Given the description of an element on the screen output the (x, y) to click on. 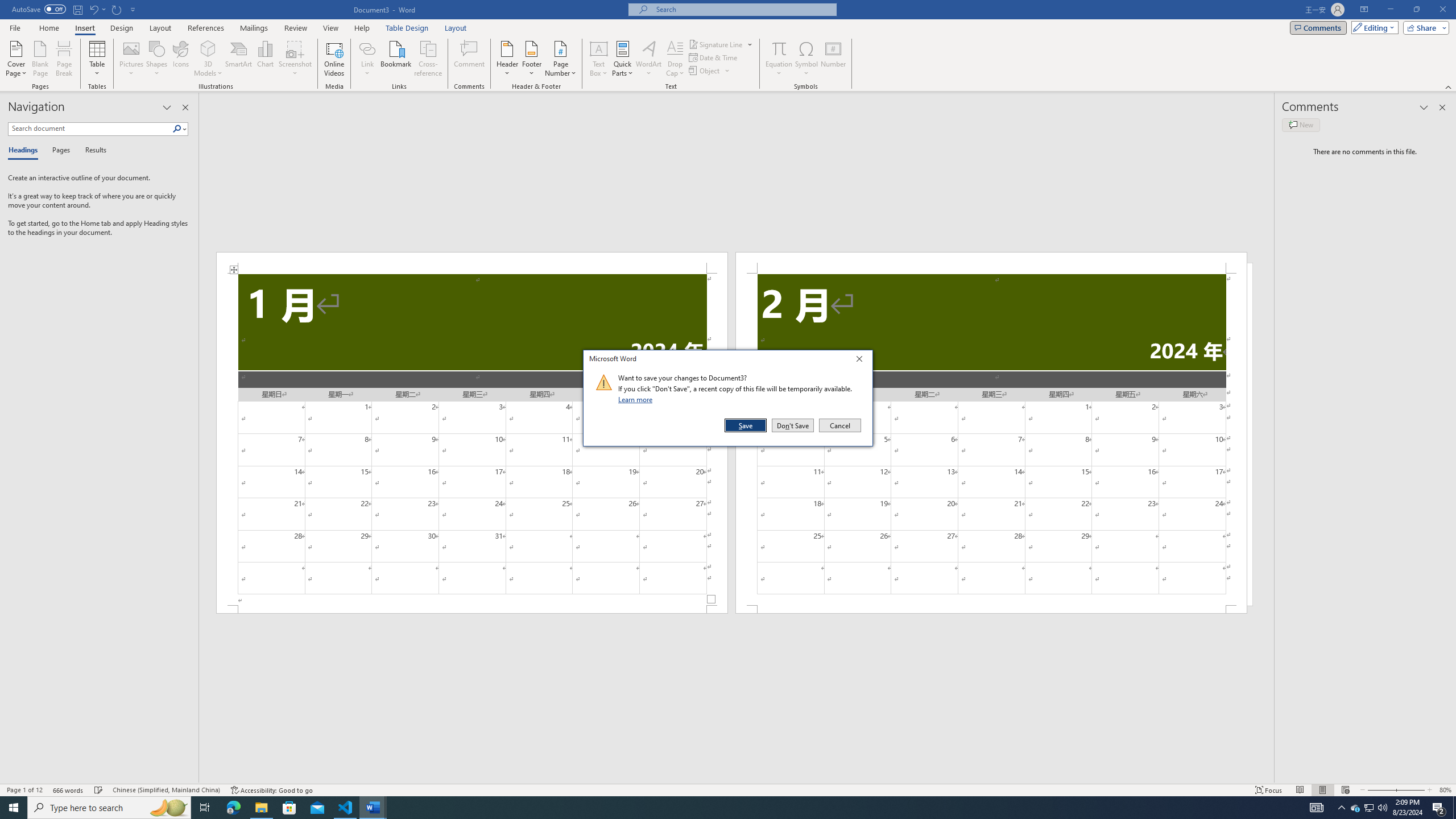
Screenshot (295, 58)
Table Design (407, 28)
Layout (455, 28)
User Promoted Notification Area (1368, 807)
Cancel (839, 425)
Review (295, 28)
Class: NetUIImage (603, 382)
Task View (204, 807)
Close pane (185, 107)
File Tab (15, 27)
Chart... (265, 58)
Accessibility Checker Accessibility: Good to go (271, 790)
Customize Quick Access Toolbar (133, 9)
Design (122, 28)
